Given the description of an element on the screen output the (x, y) to click on. 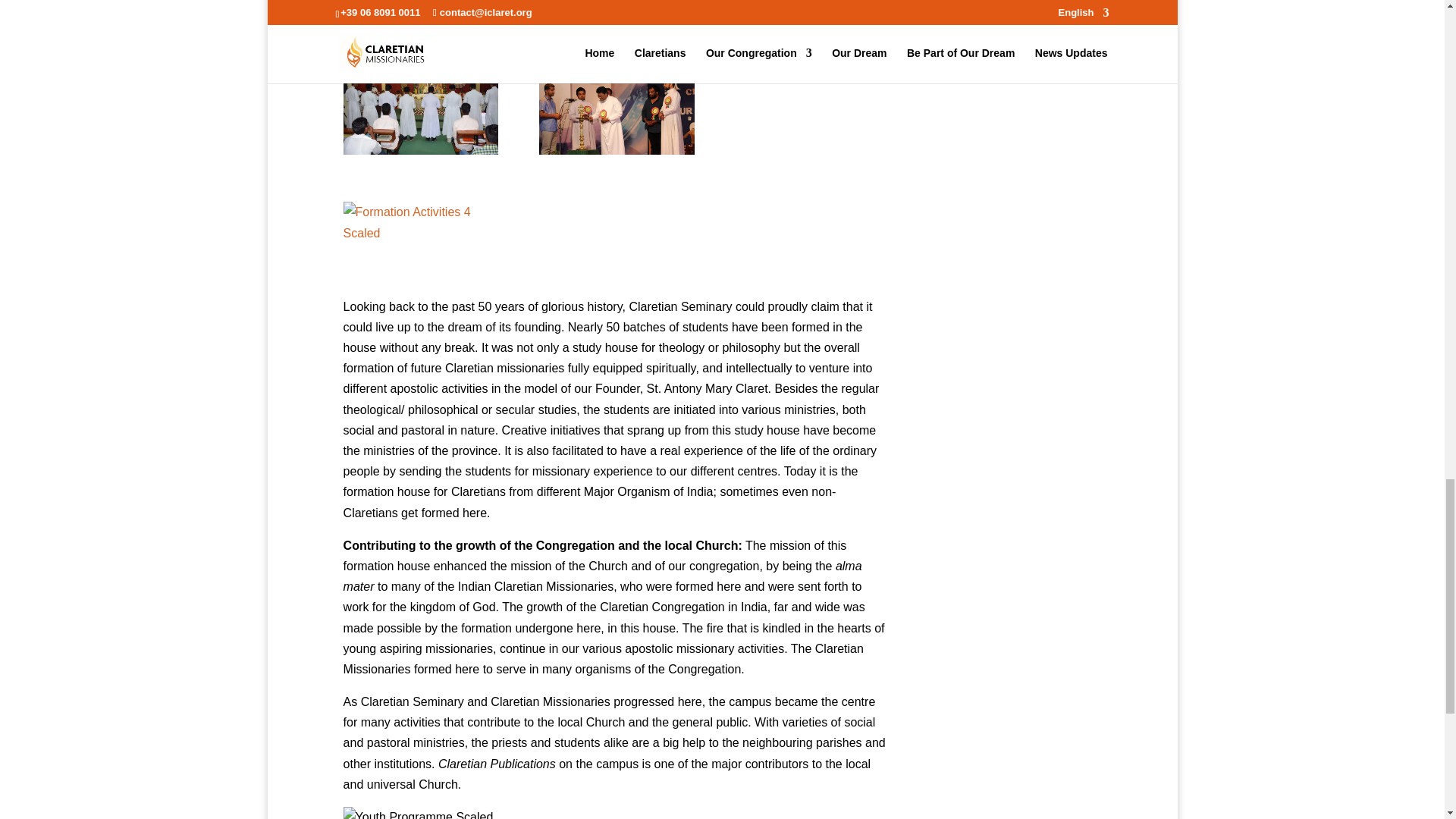
WhatsApp (558, 816)
Email (483, 816)
Print (422, 816)
Facebook (350, 816)
